Given the description of an element on the screen output the (x, y) to click on. 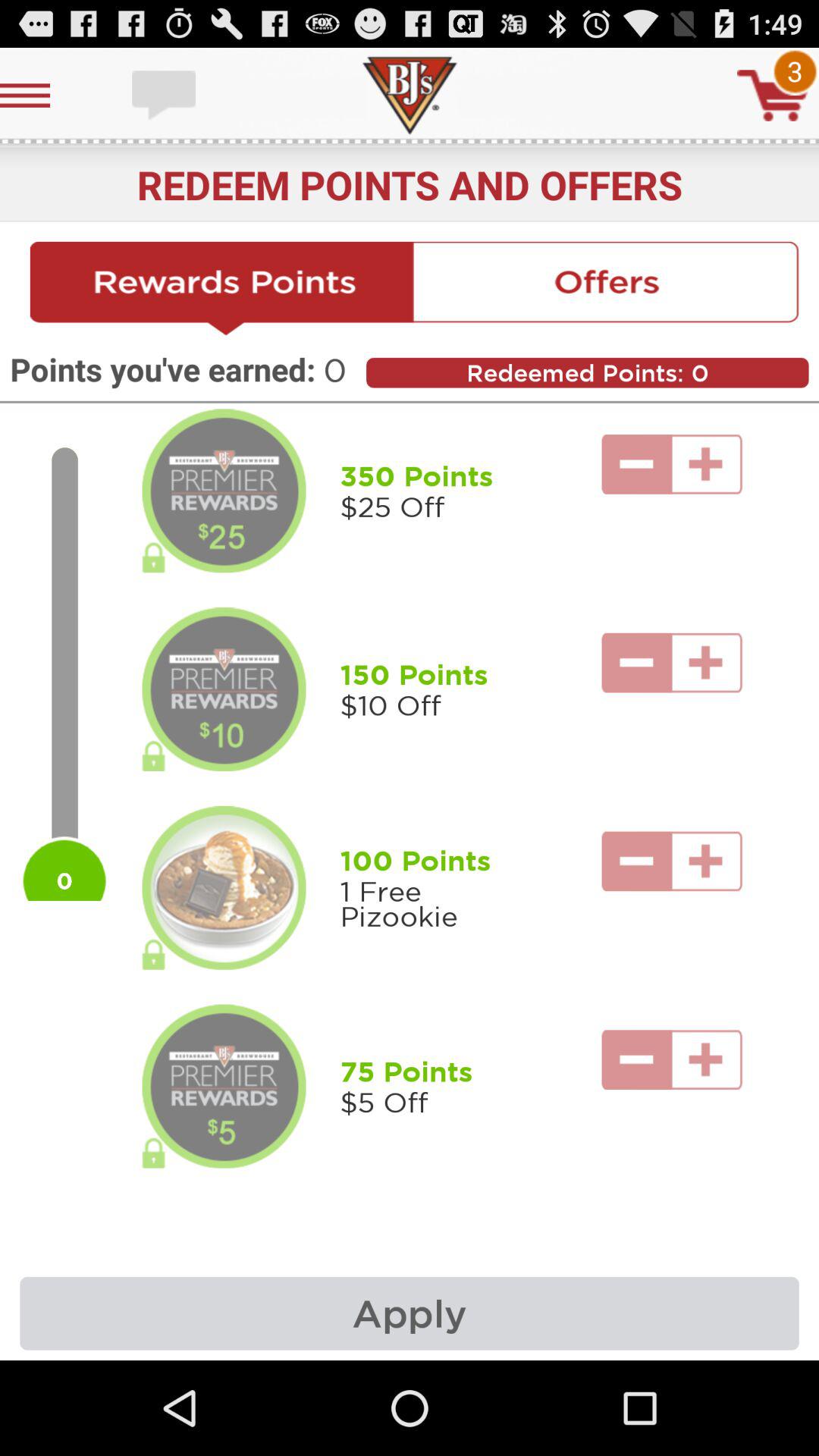
redeem points (222, 289)
